Given the description of an element on the screen output the (x, y) to click on. 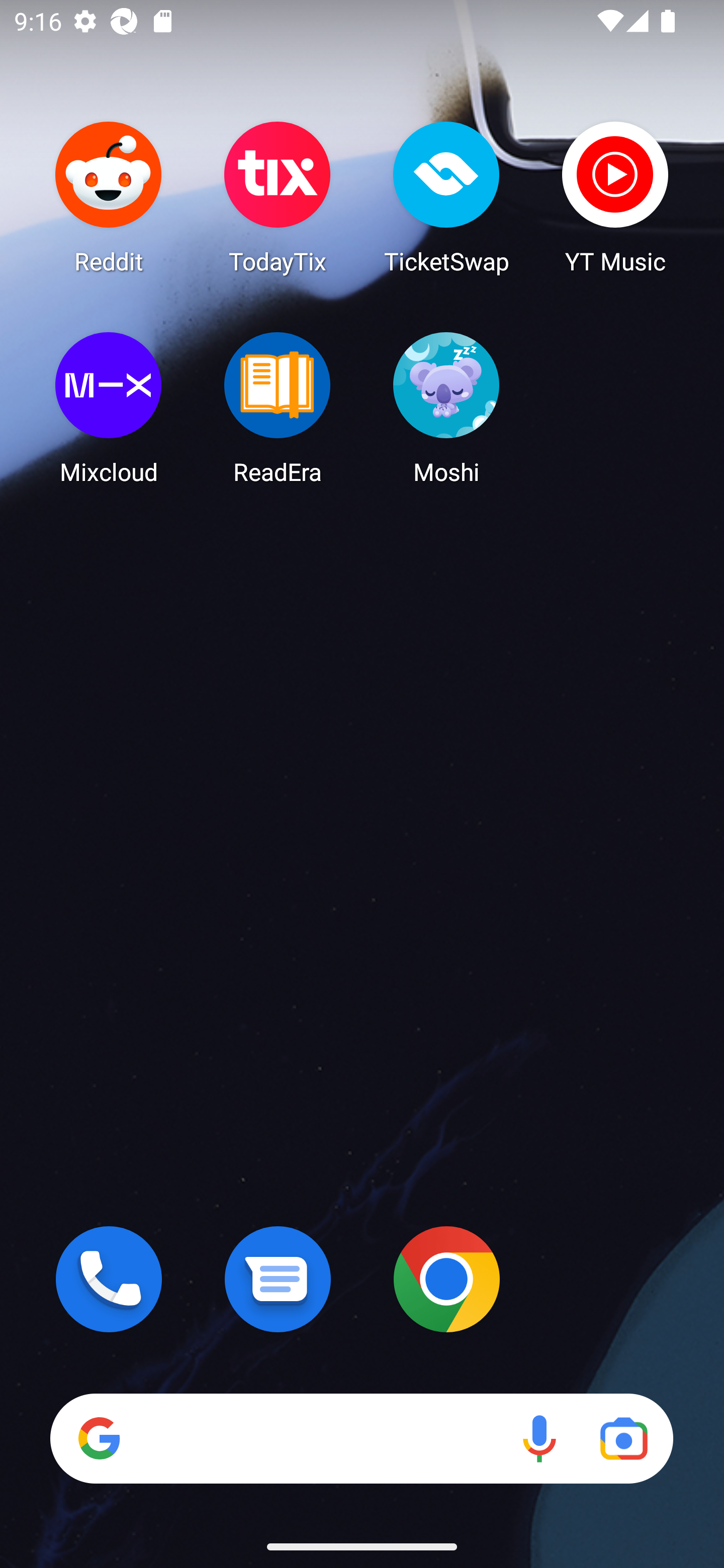
Reddit (108, 196)
TodayTix (277, 196)
TicketSwap (445, 196)
YT Music (615, 196)
Mixcloud (108, 407)
ReadEra (277, 407)
Moshi (445, 407)
Phone (108, 1279)
Messages (277, 1279)
Chrome (446, 1279)
Voice search (539, 1438)
Google Lens (623, 1438)
